Given the description of an element on the screen output the (x, y) to click on. 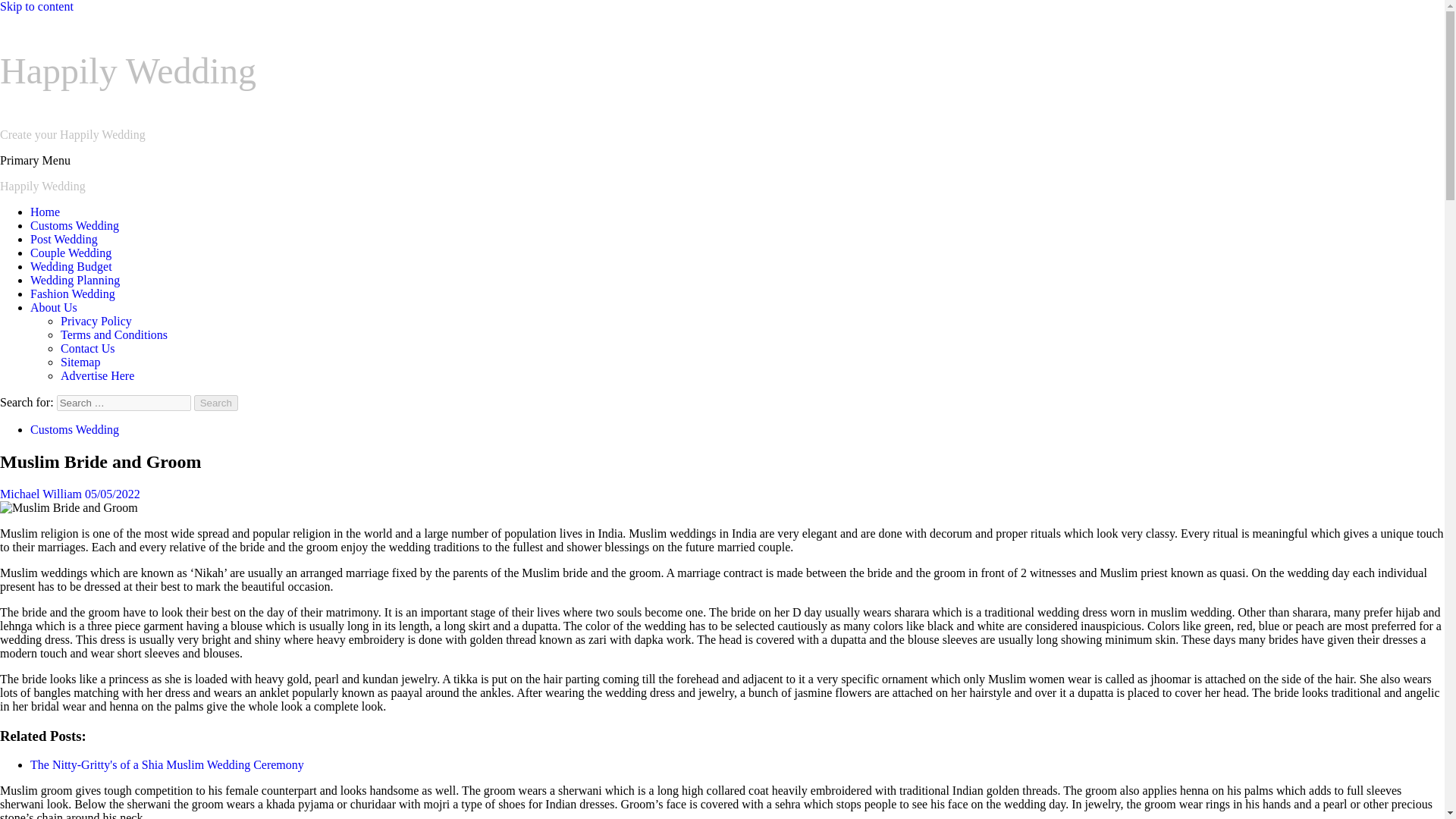
Wedding Planning (74, 279)
Home (44, 211)
Happily Wedding (42, 185)
Couple Wedding (71, 252)
Customs Wedding (74, 225)
Muslim Bride and Groom (69, 508)
Contact Us (88, 348)
Michael William (42, 493)
Search (215, 402)
Wedding Budget (71, 266)
Sitemap (80, 361)
Customs Wedding (74, 429)
About Us (53, 307)
Search (215, 402)
Advertise Here (97, 375)
